Given the description of an element on the screen output the (x, y) to click on. 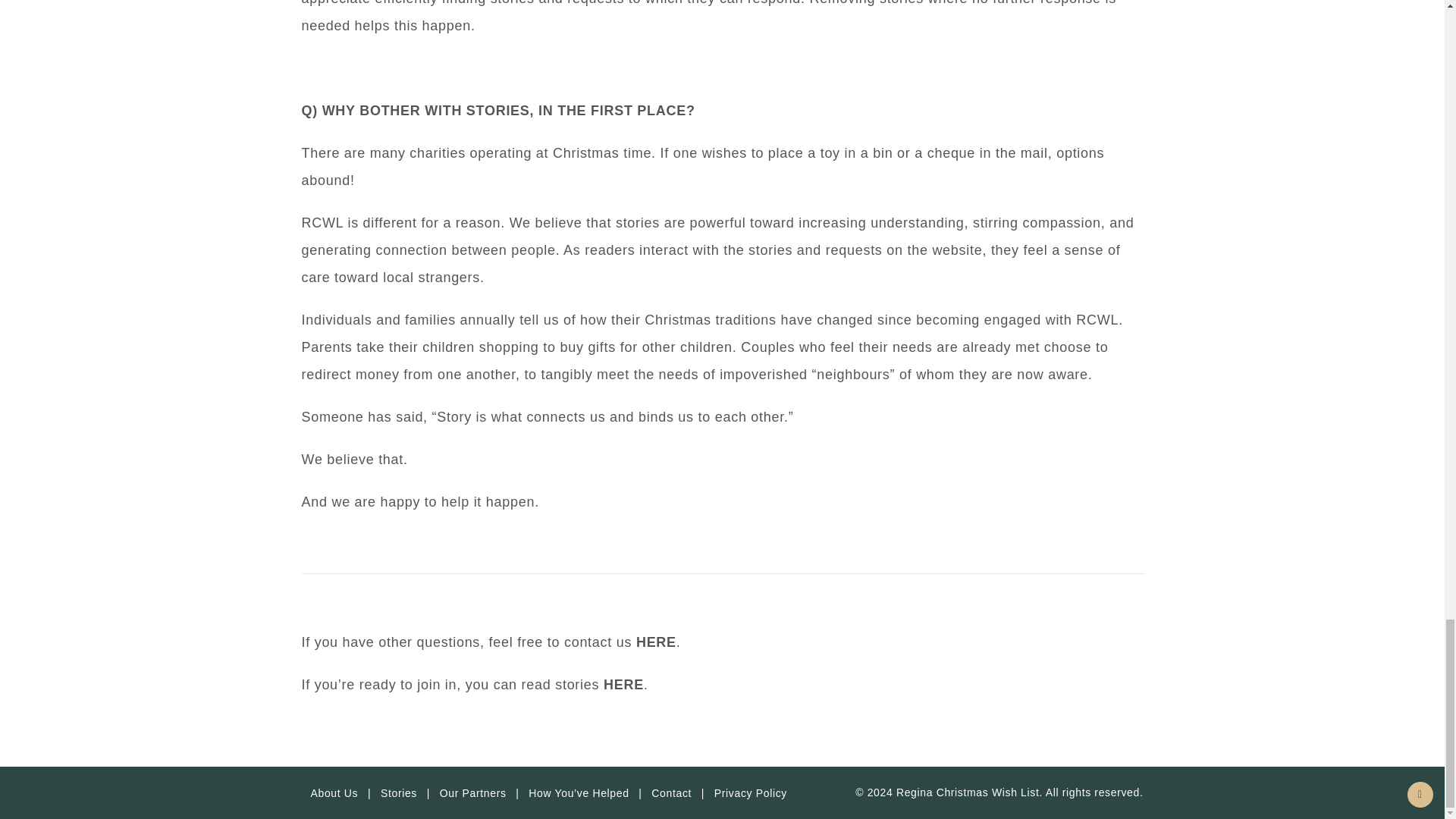
Our Partners (472, 793)
HERE (623, 684)
Contact (671, 793)
About Us (334, 793)
Privacy Policy (750, 793)
HERE (656, 642)
Stories (398, 793)
